Given the description of an element on the screen output the (x, y) to click on. 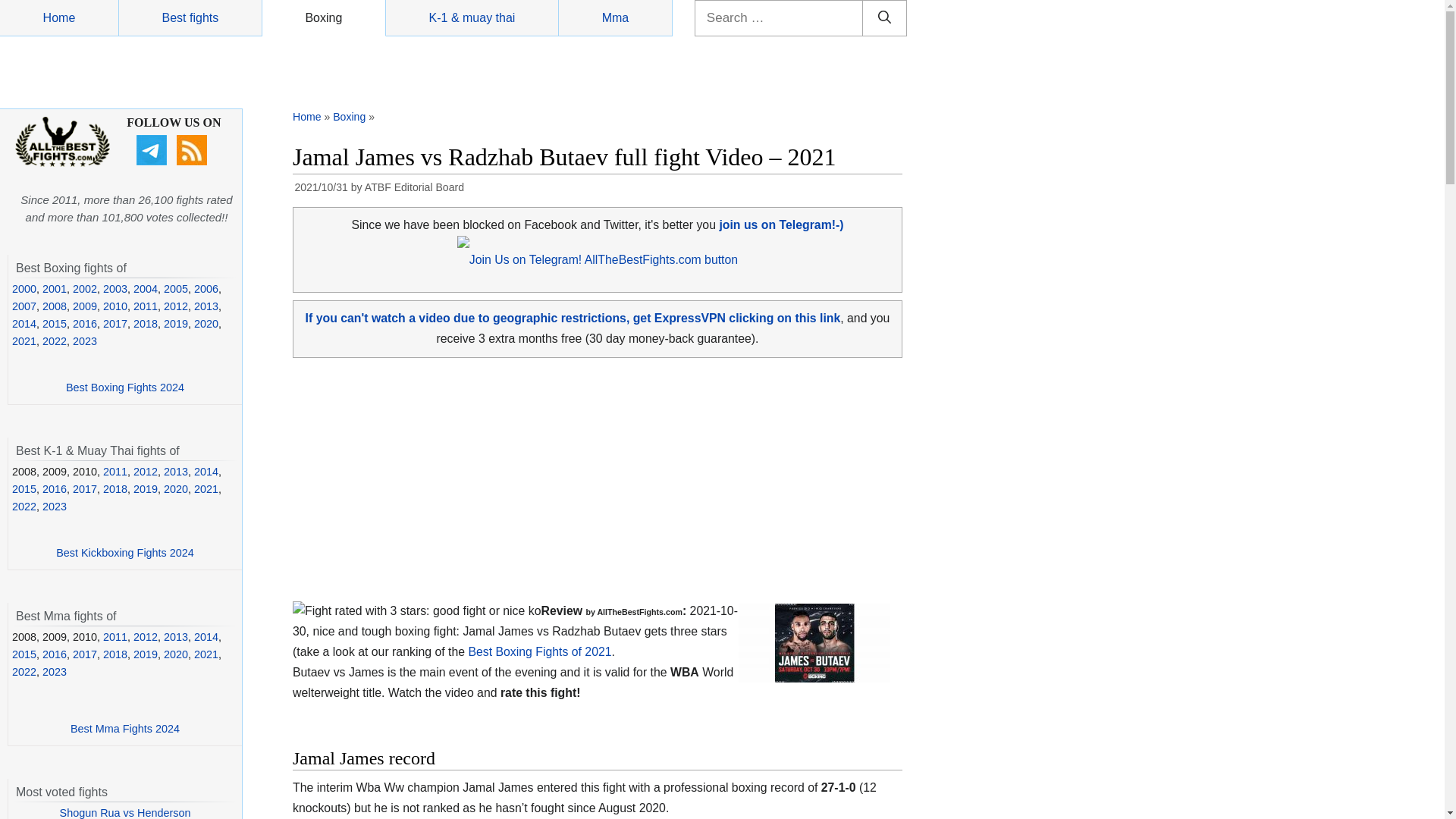
Mma (615, 18)
Search for: (780, 18)
Boxing (349, 116)
Join Us on Telegram! AllTheBestFights.com (781, 224)
Boxing (323, 18)
Best fights (190, 18)
View all posts by ATBF Editorial Board (414, 186)
Home (59, 18)
Homepage AllTheBestFights.com (59, 18)
Join Us on Telegram! AllTheBestFights.com (597, 259)
